Given the description of an element on the screen output the (x, y) to click on. 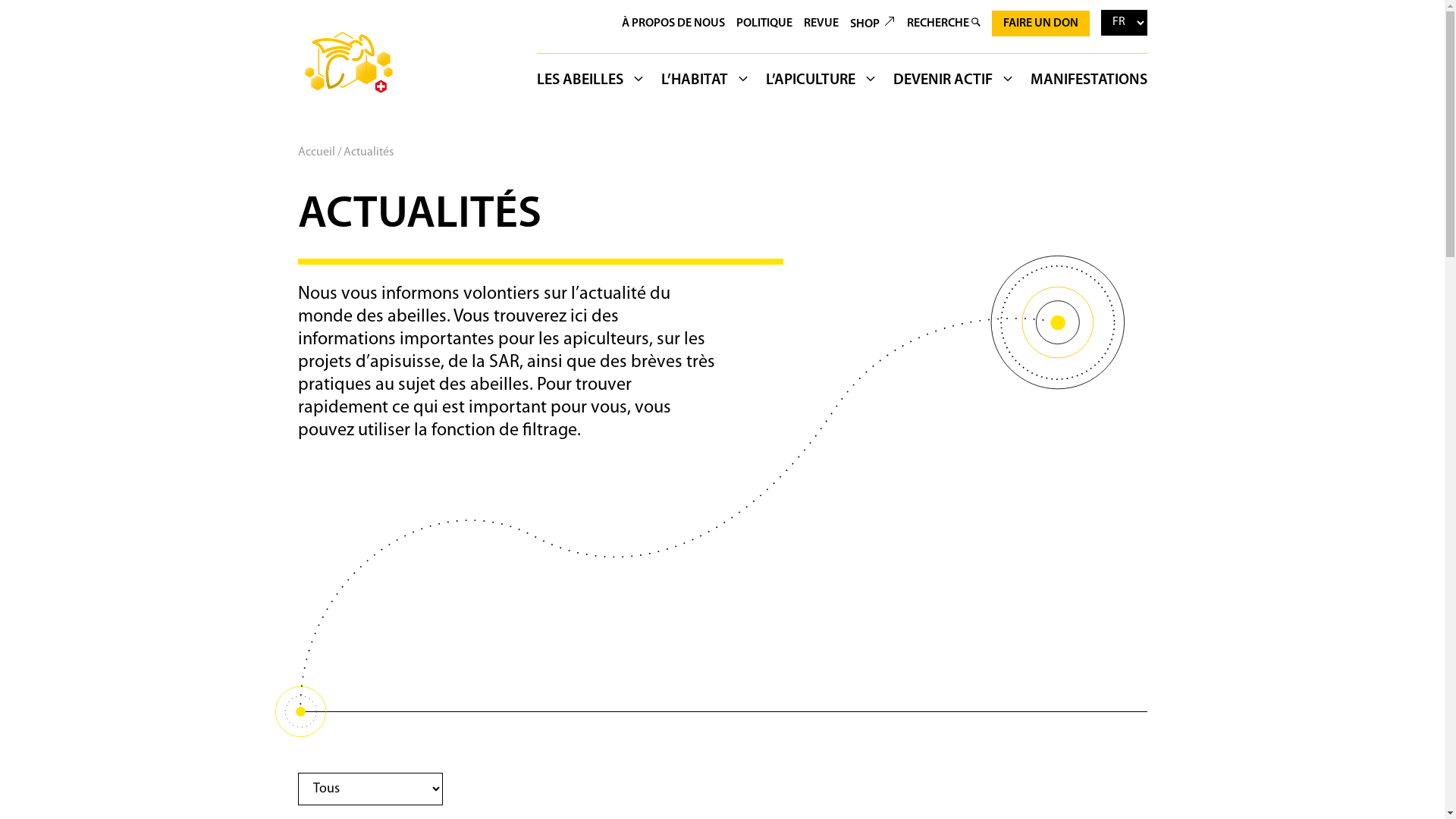
Accueil Element type: text (315, 152)
MANIFESTATIONS Element type: text (1084, 83)
POLITIQUE Element type: text (763, 23)
SHOP Element type: text (872, 23)
DEVENIR ACTIF Element type: text (953, 83)
RECHERCHE Element type: text (942, 23)
LES ABEILLES Element type: text (594, 83)
FAIRE UN DON Element type: text (1040, 23)
REVUE Element type: text (820, 23)
